Given the description of an element on the screen output the (x, y) to click on. 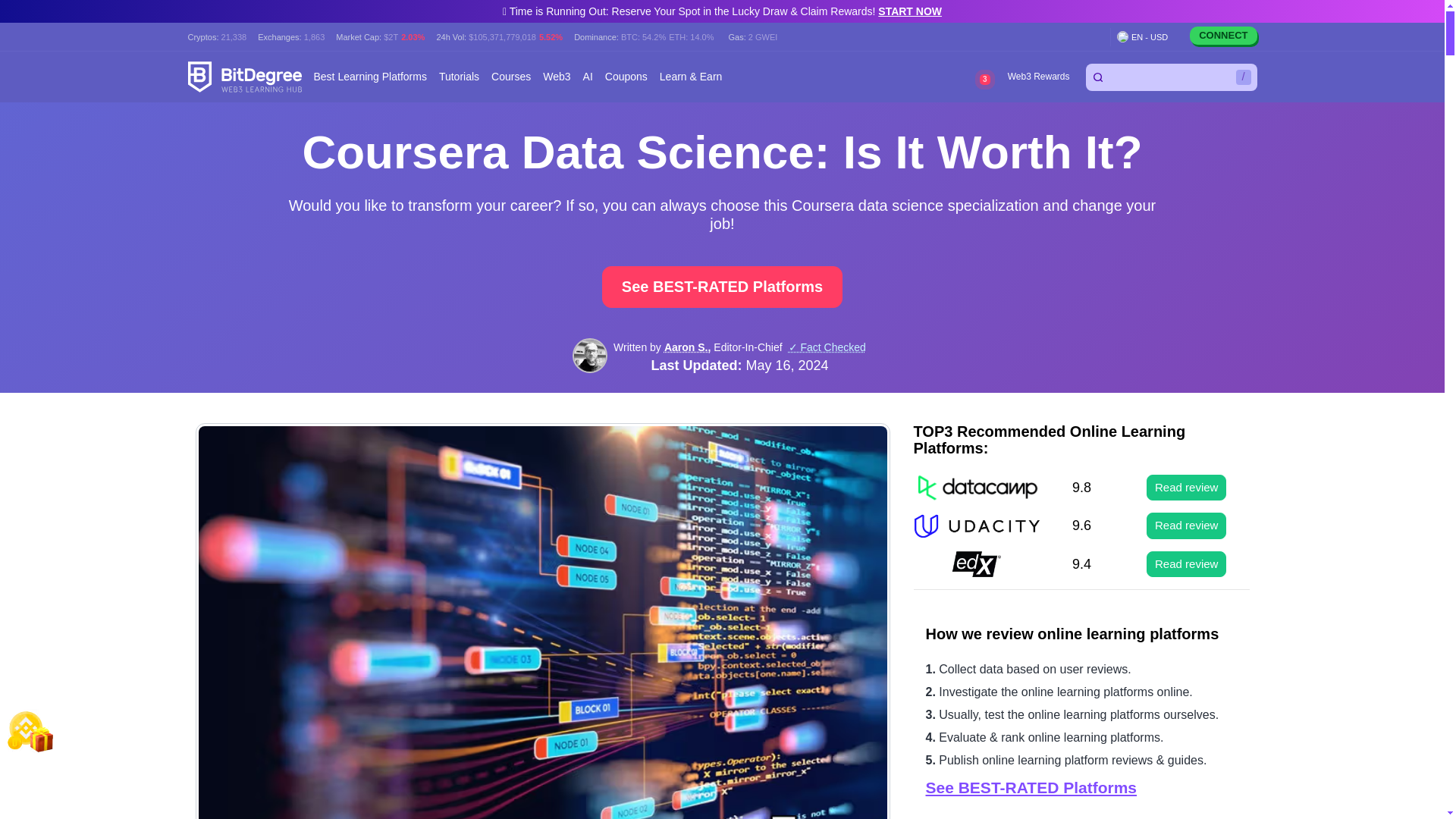
Best Learning Platforms (370, 76)
Aaron S., (686, 347)
Courses (511, 76)
Web3 (556, 76)
Aaron S. Editor-In-Chief (589, 355)
START NOW (909, 10)
Web3 Rewards (1037, 77)
Tutorials (459, 76)
1,863 (314, 35)
Coupons (626, 76)
21,338 (234, 35)
2 GWEI (762, 35)
See BEST-RATED Platforms (722, 286)
